Given the description of an element on the screen output the (x, y) to click on. 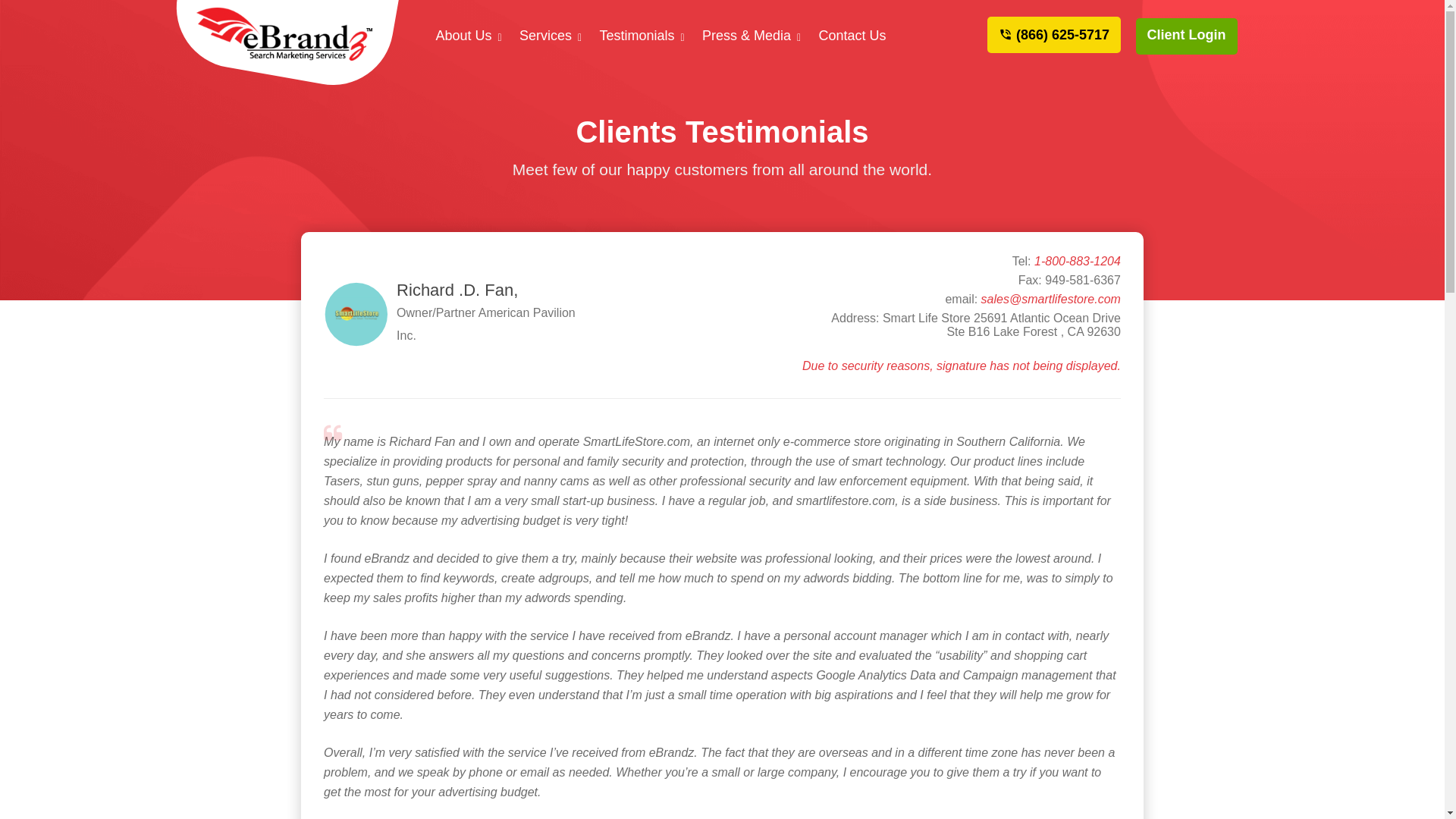
Services (544, 35)
About Us (463, 35)
